Given the description of an element on the screen output the (x, y) to click on. 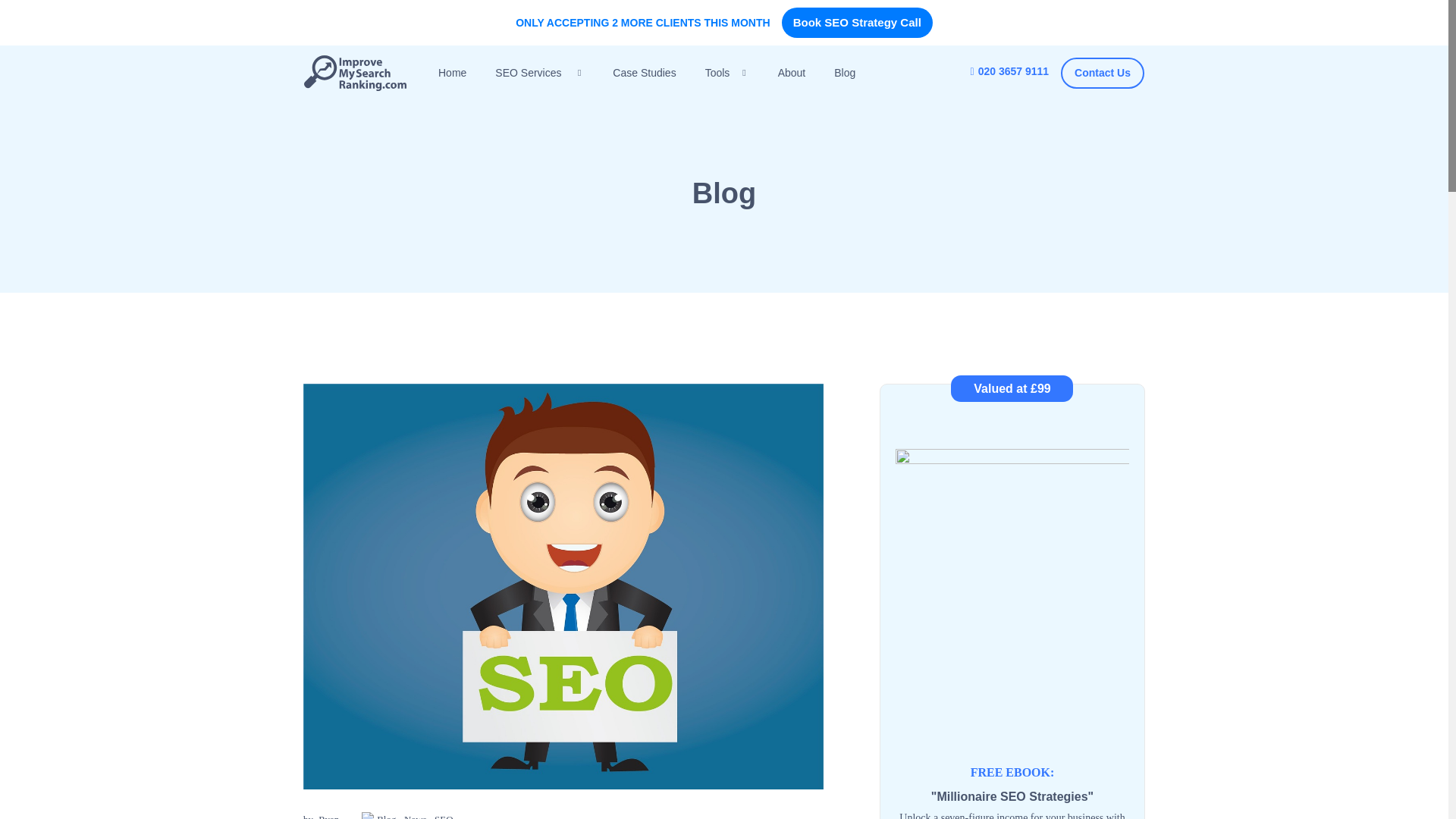
News, (417, 816)
Tools (726, 72)
Book SEO Strategy Call (857, 22)
Home (451, 72)
Ryan (328, 816)
020 3657 9111 (1009, 71)
SEO Services (539, 72)
Blog (844, 72)
Blog, (389, 816)
SEO, (444, 816)
About (791, 72)
Contact Us (1102, 72)
Case Studies (644, 72)
